Given the description of an element on the screen output the (x, y) to click on. 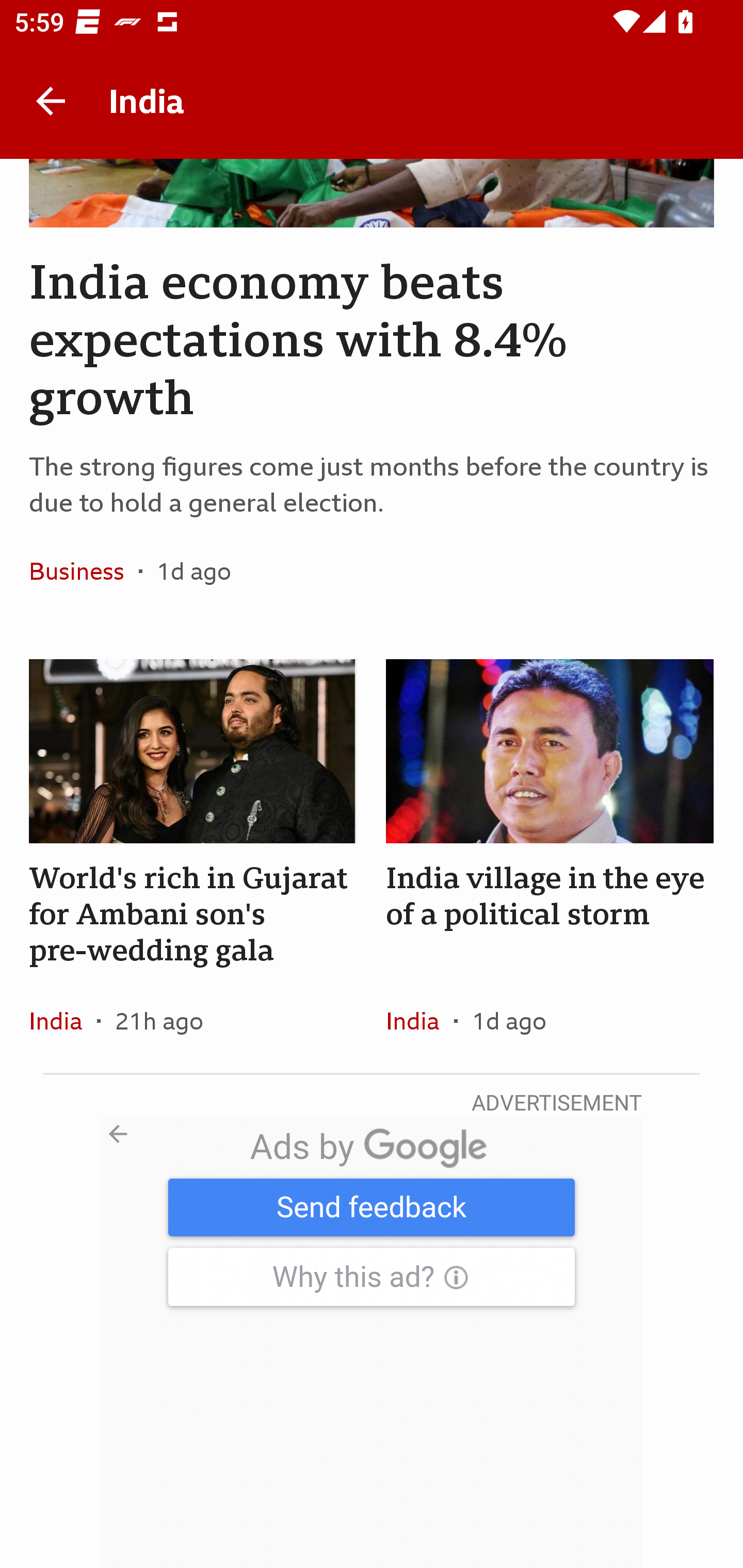
Back (50, 101)
Business In the section Business (83, 570)
India In the section India (62, 1020)
India In the section India (419, 1020)
Janus Henderson Investors (371, 1342)
